Given the description of an element on the screen output the (x, y) to click on. 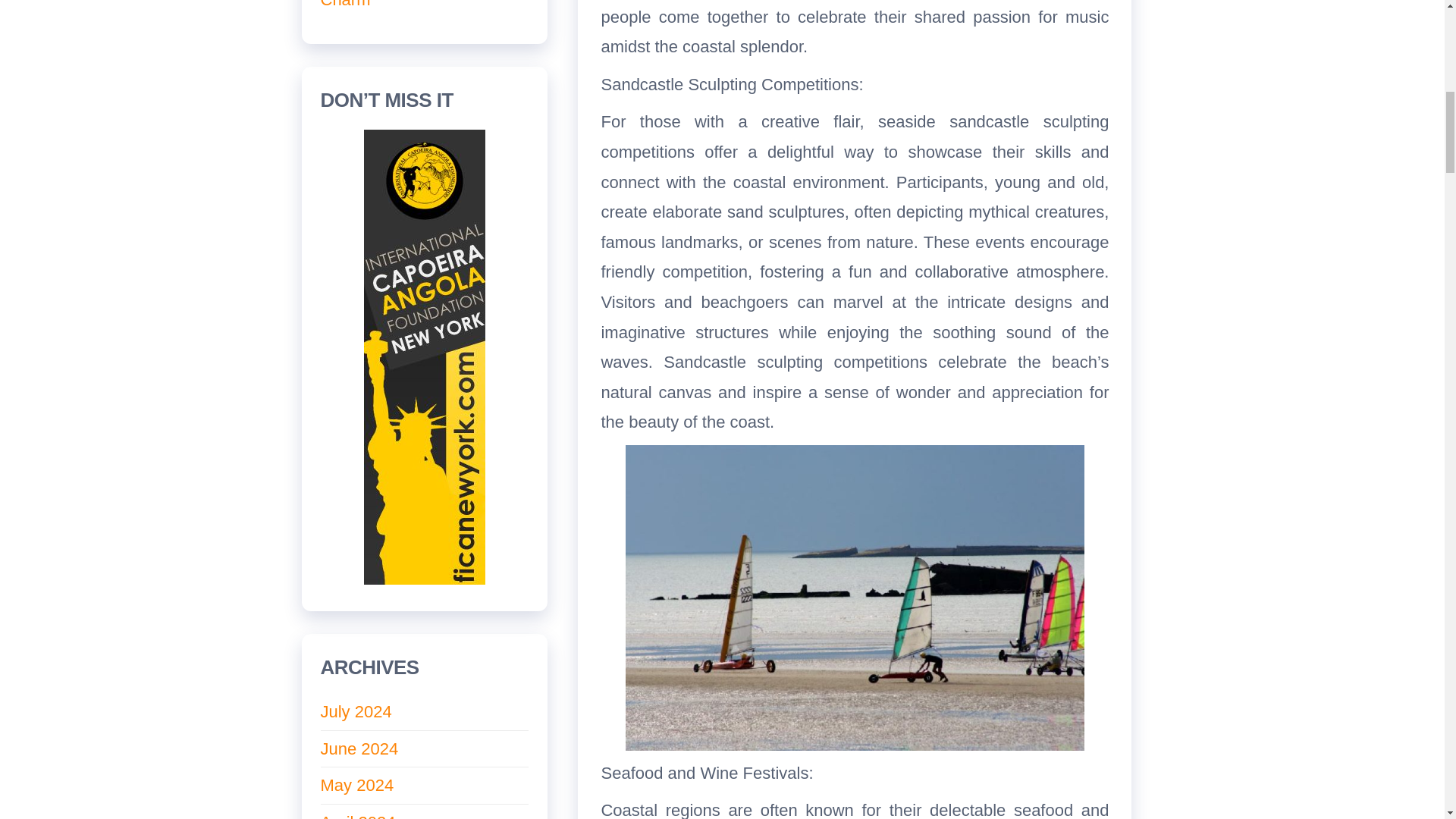
April 2024 (357, 816)
July 2024 (355, 711)
June 2024 (358, 748)
May 2024 (356, 784)
